Given the description of an element on the screen output the (x, y) to click on. 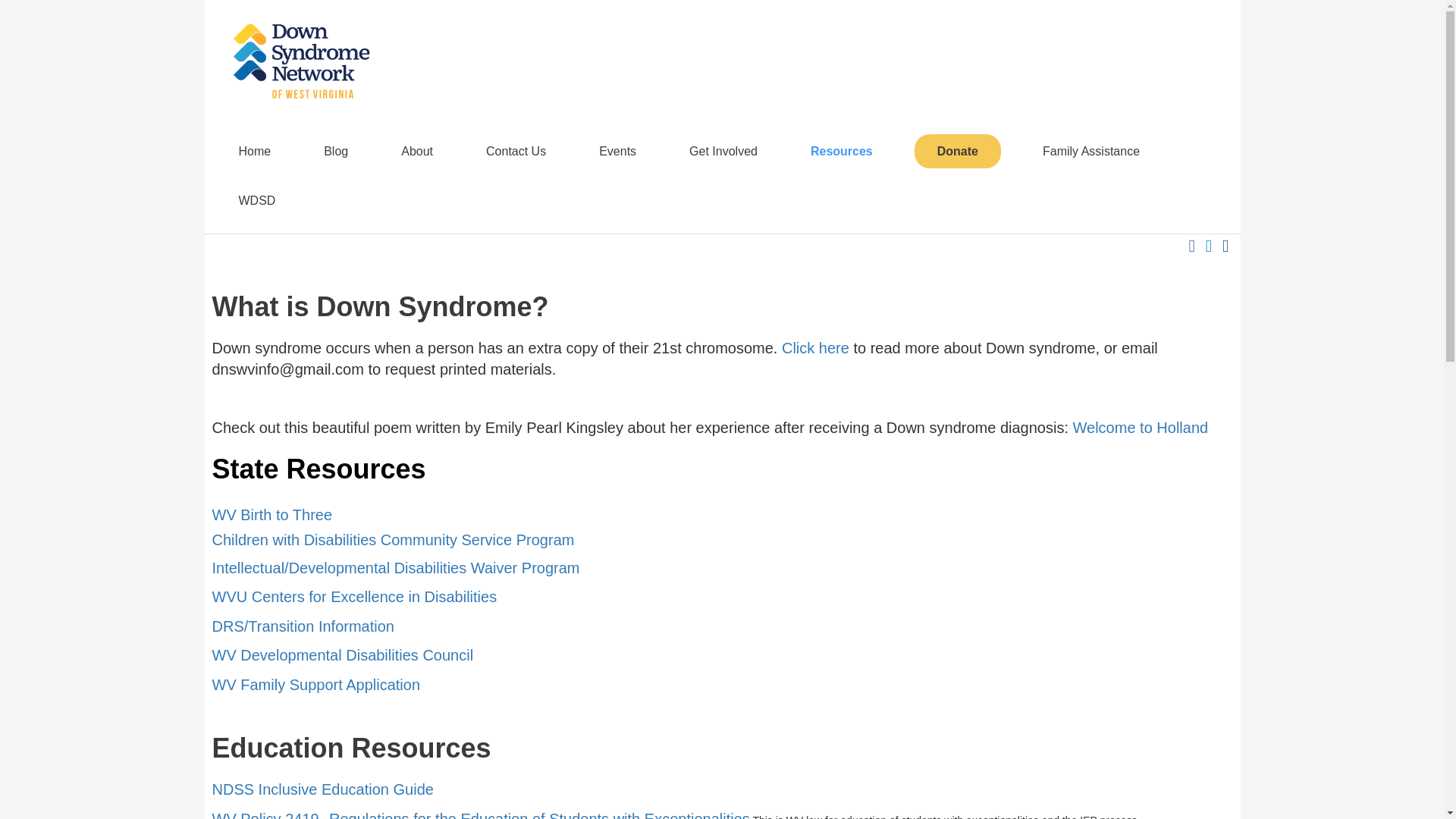
Click here (814, 349)
WV Family Support Application (316, 686)
WV Developmental Disabilities Council (343, 656)
Resources (841, 150)
WVU Centers for Excellence in Disabilities (354, 598)
Home (254, 150)
Donate (957, 151)
Events (617, 150)
About (417, 150)
Get Involved (723, 150)
